Given the description of an element on the screen output the (x, y) to click on. 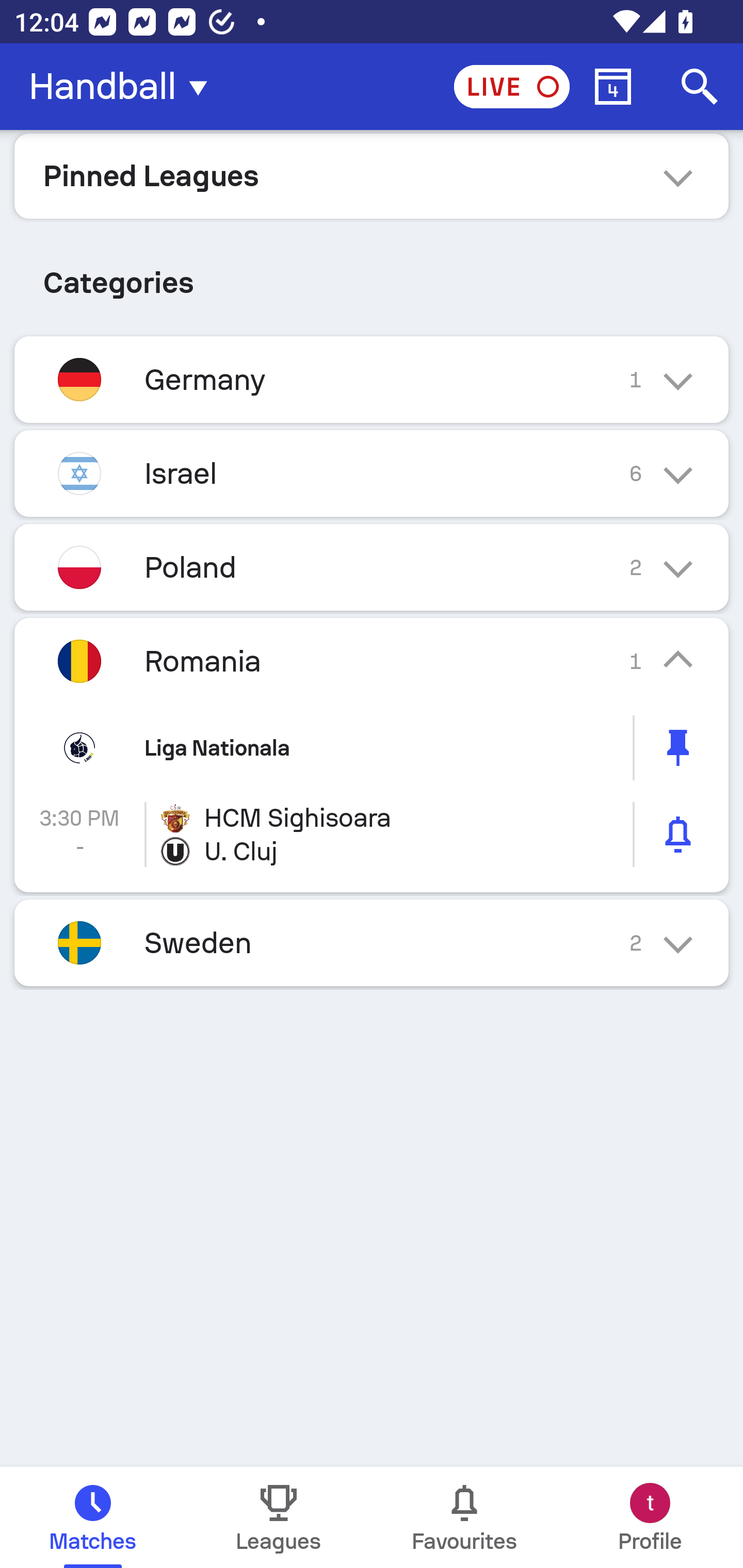
Handball (124, 86)
Calendar (612, 86)
Search (699, 86)
Pinned Leagues (371, 175)
Categories (371, 275)
Germany 1 (371, 379)
Israel 6 (371, 473)
Poland 2 (371, 566)
Romania 1 (371, 660)
Liga Nationala (371, 747)
3:30 PM - HCM Sighisoara U. Cluj (371, 834)
Sweden 2 (371, 943)
Leagues (278, 1517)
Favourites (464, 1517)
Profile (650, 1517)
